Given the description of an element on the screen output the (x, y) to click on. 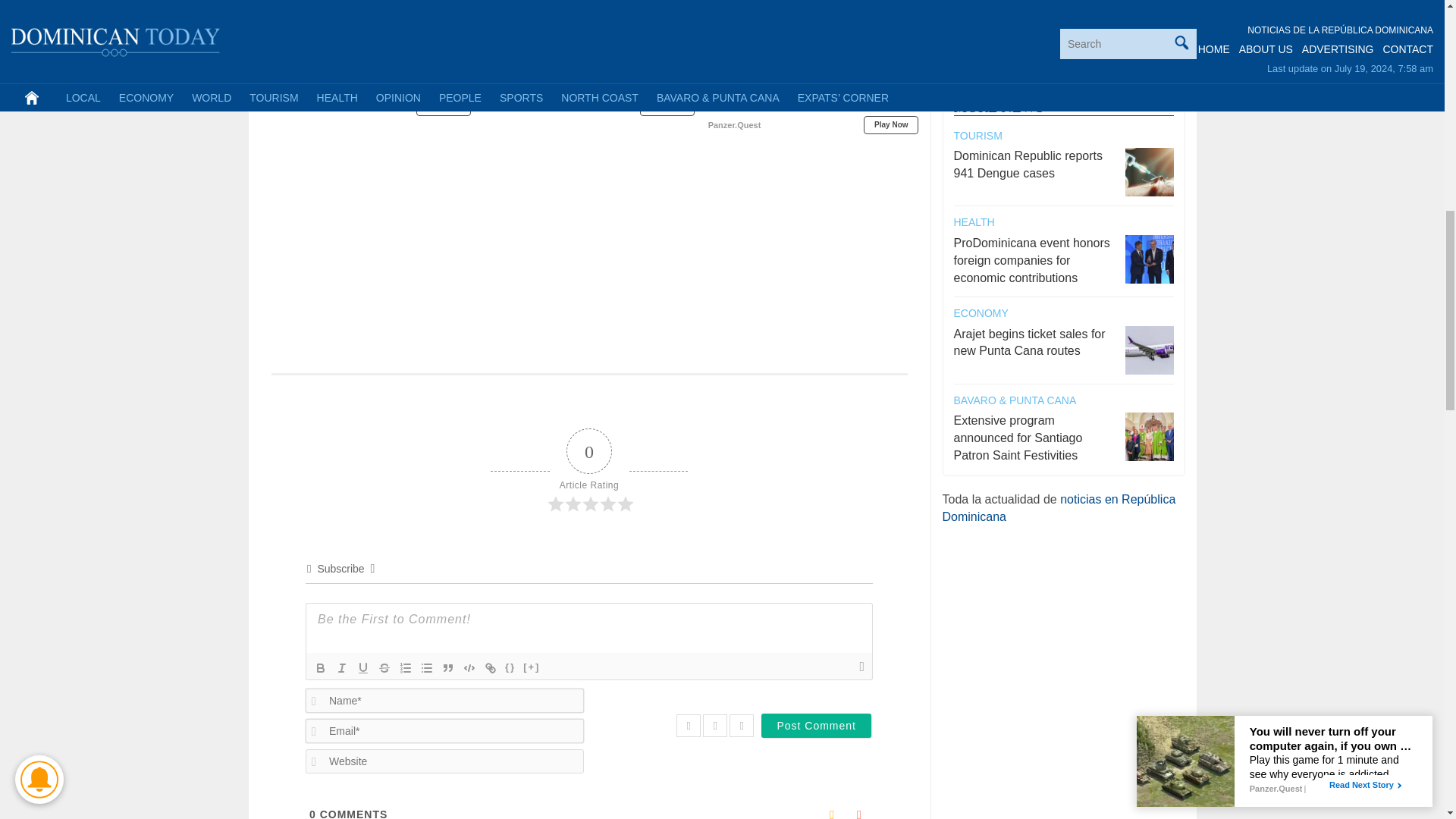
Code Block (469, 668)
Play Now (667, 106)
Play Now (443, 106)
Post Comment (815, 725)
Italic (341, 668)
Ordered List (405, 668)
Bold (320, 668)
Underline (363, 668)
Strike (384, 668)
